Given the description of an element on the screen output the (x, y) to click on. 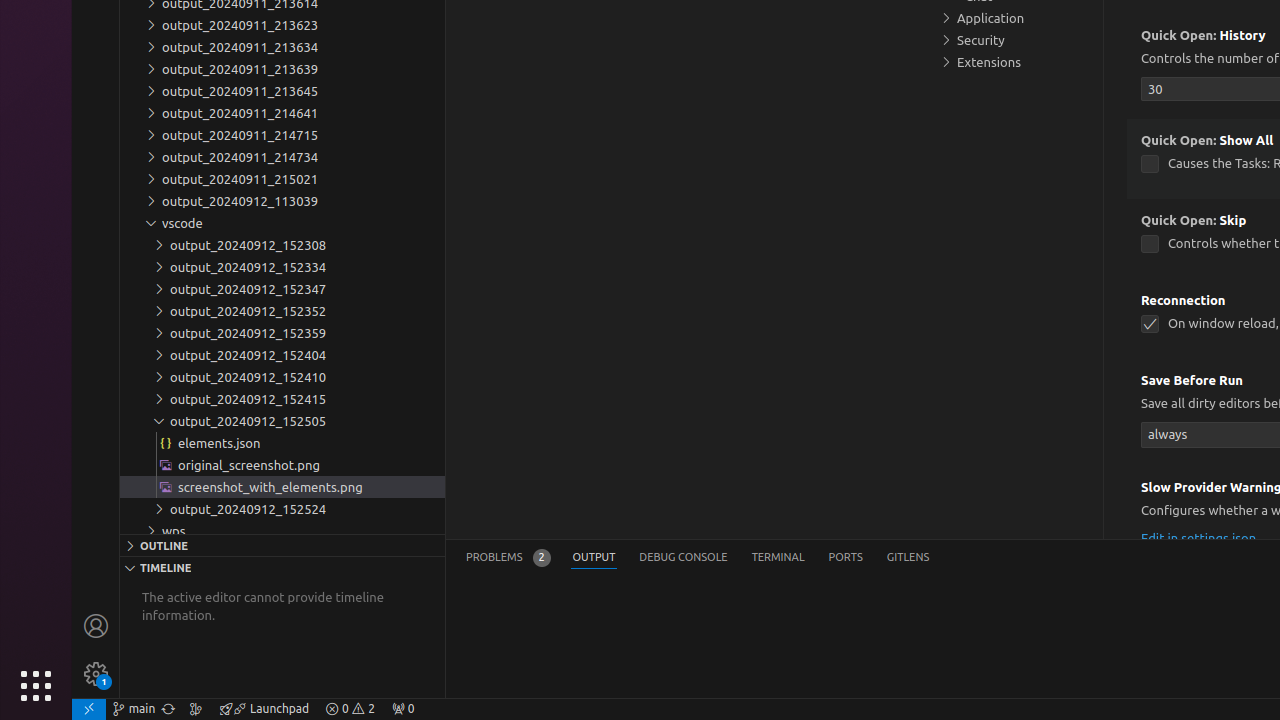
output_20240912_113039 Element type: tree-item (282, 201)
output_20240912_152410 Element type: tree-item (282, 377)
screenshot_with_elements.png Element type: tree-item (282, 487)
remote Element type: push-button (89, 709)
original_screenshot.png Element type: tree-item (282, 465)
